Given the description of an element on the screen output the (x, y) to click on. 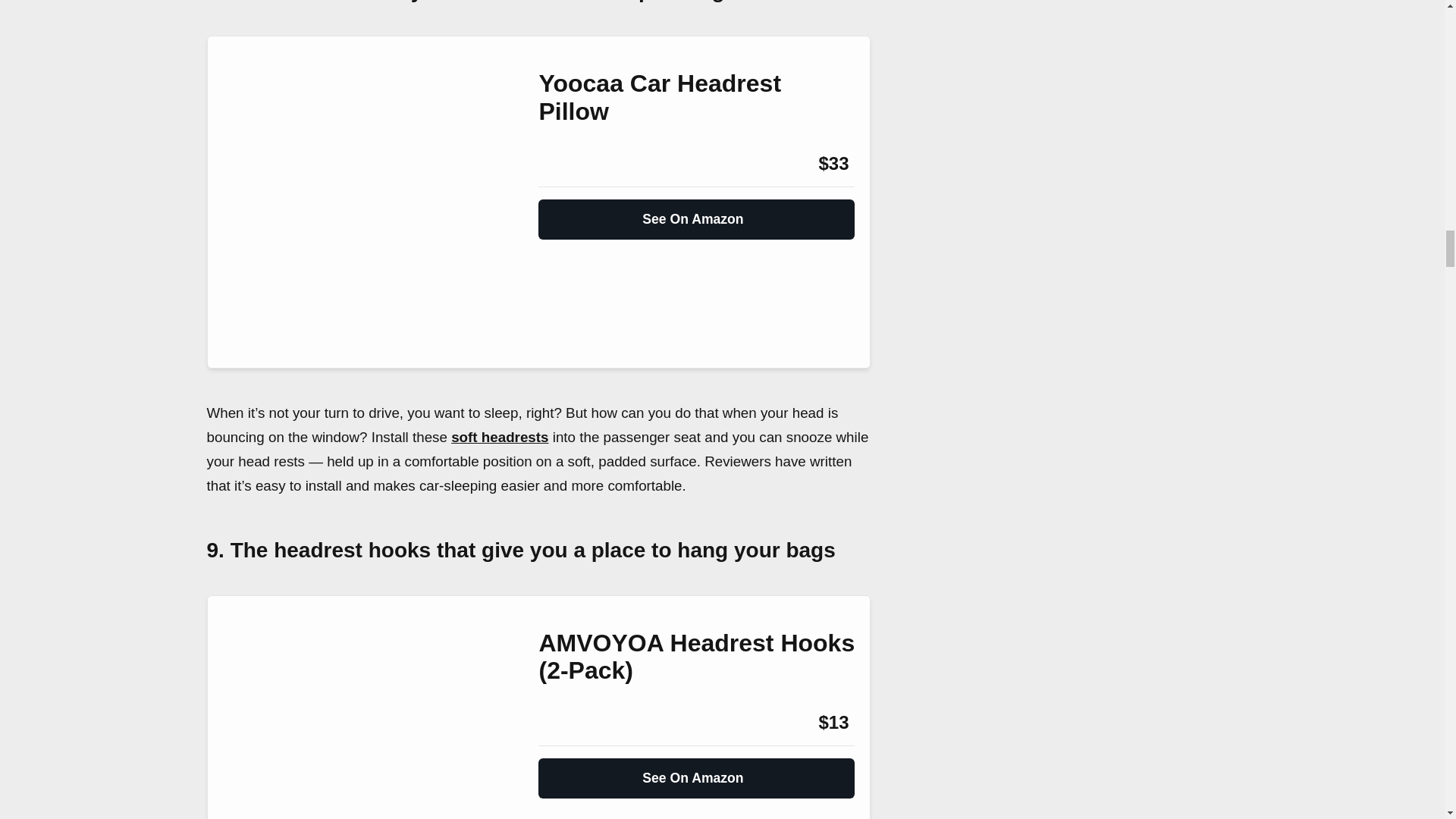
soft headrests (499, 437)
Amazon (579, 722)
See On Amazon (696, 212)
Amazon (579, 163)
